Given the description of an element on the screen output the (x, y) to click on. 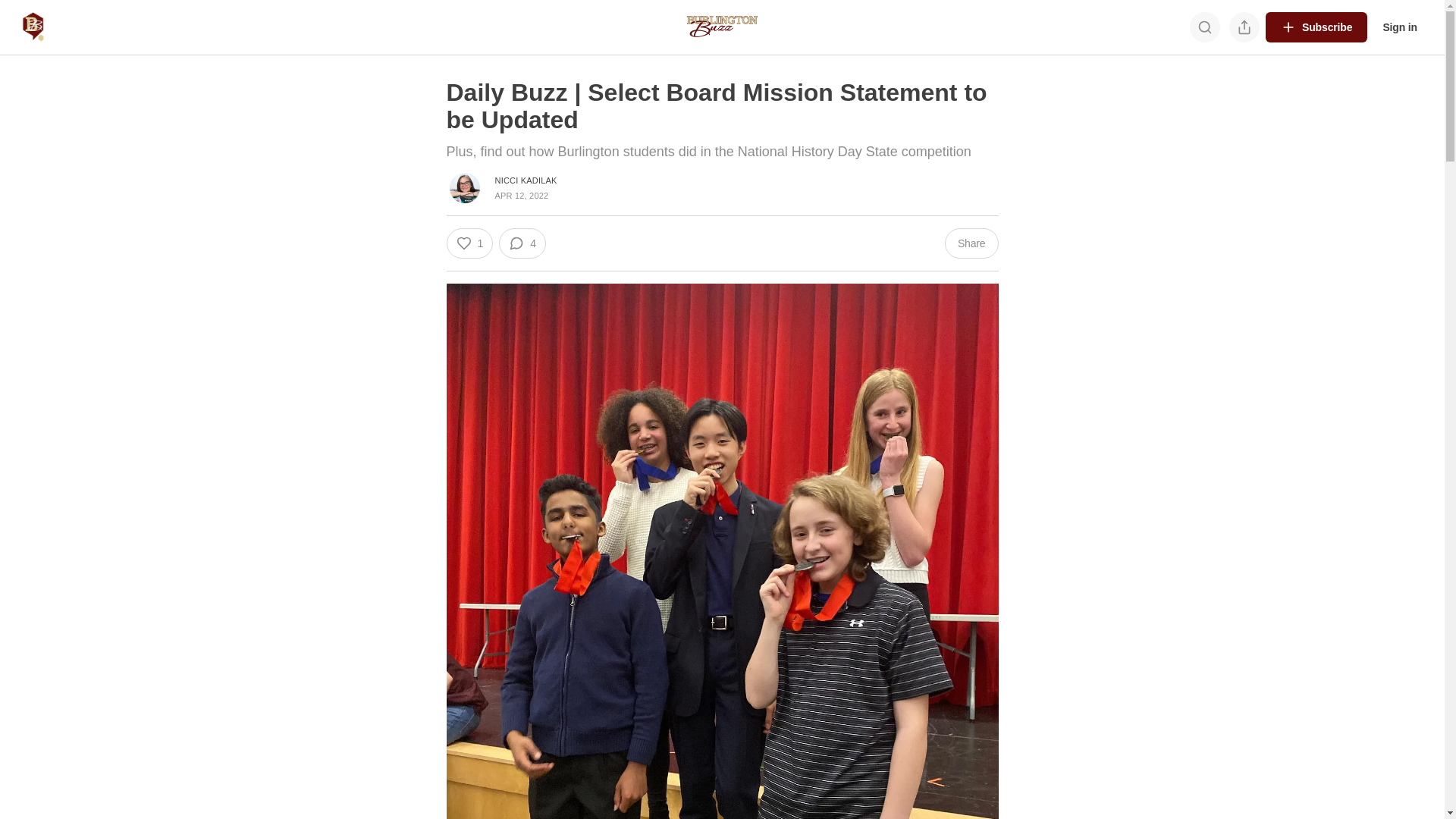
4 Element type: text (522, 243)
NICCI KADILAK Element type: text (525, 180)
Share Element type: text (971, 243)
Subscribe Element type: text (1316, 27)
1 Element type: text (468, 243)
Sign in Element type: text (1399, 27)
